Given the description of an element on the screen output the (x, y) to click on. 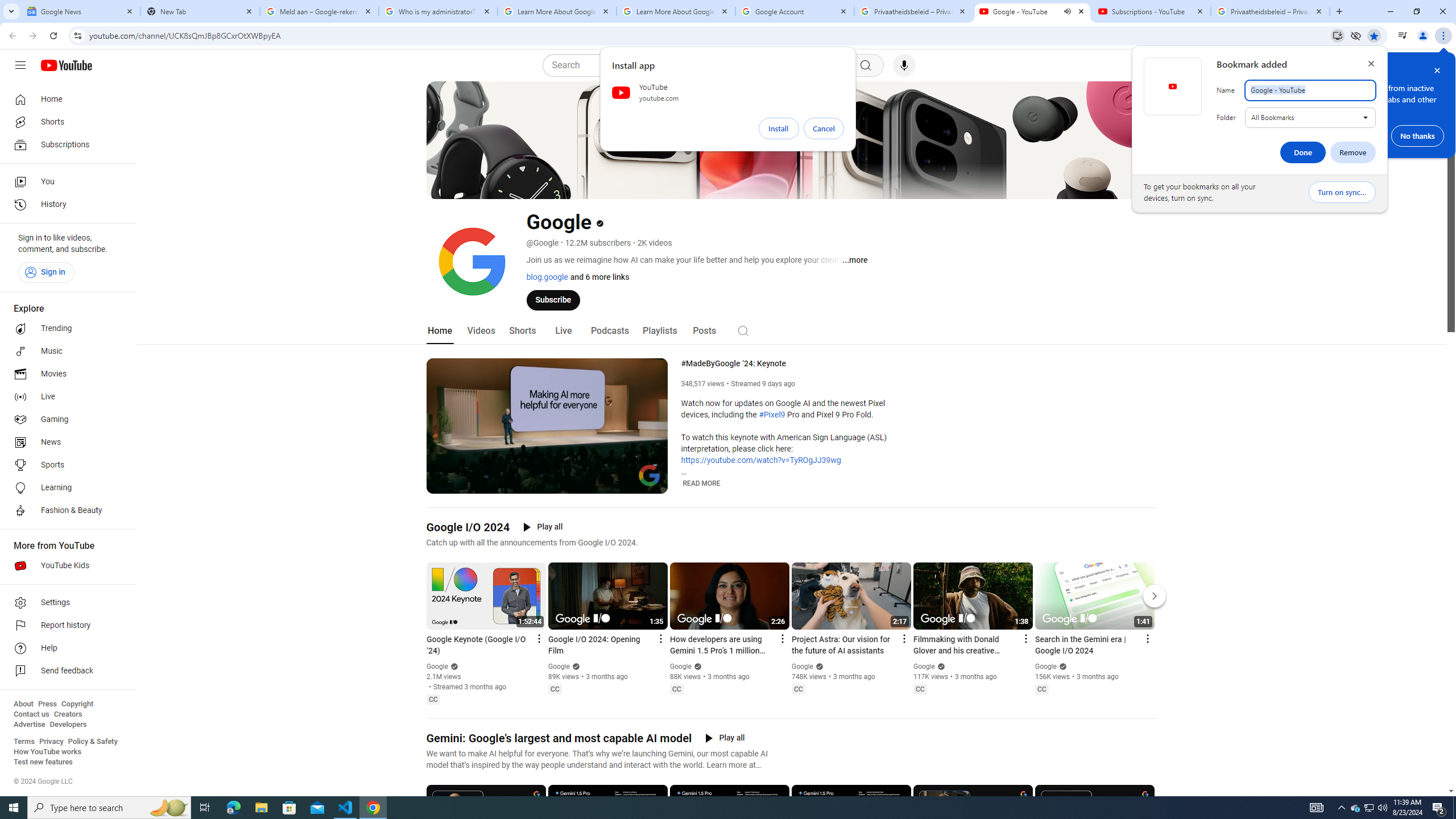
Trending (64, 328)
Podcasts (608, 330)
Done (1302, 151)
Videos (481, 330)
New Tab (199, 11)
Subscriptions - YouTube (1150, 11)
Microsoft Store (1355, 807)
and 6 more links (289, 807)
